Given the description of an element on the screen output the (x, y) to click on. 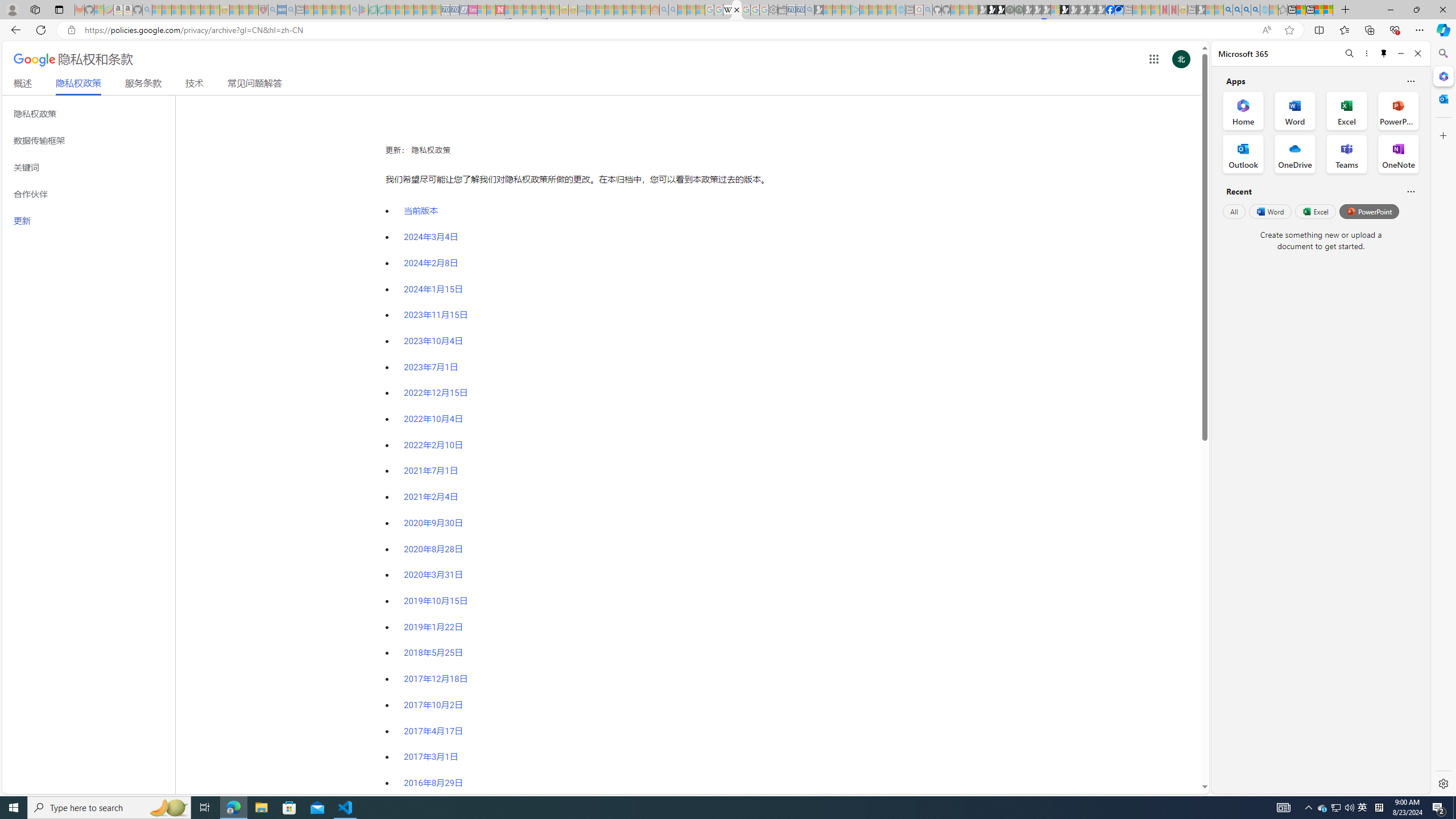
Word (1269, 210)
